Given the description of an element on the screen output the (x, y) to click on. 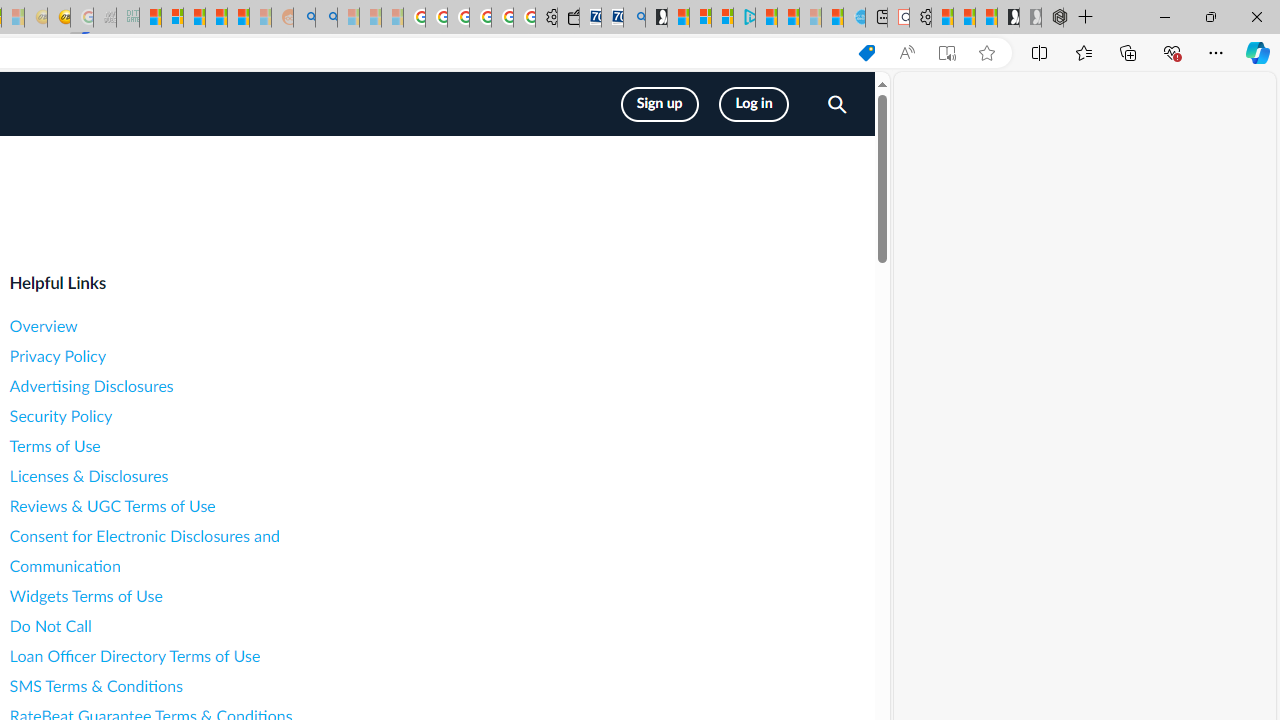
Log in (753, 104)
Widgets Terms of Use (188, 596)
Search LendingTree (836, 106)
SMS Terms & Conditions (188, 686)
